Given the description of an element on the screen output the (x, y) to click on. 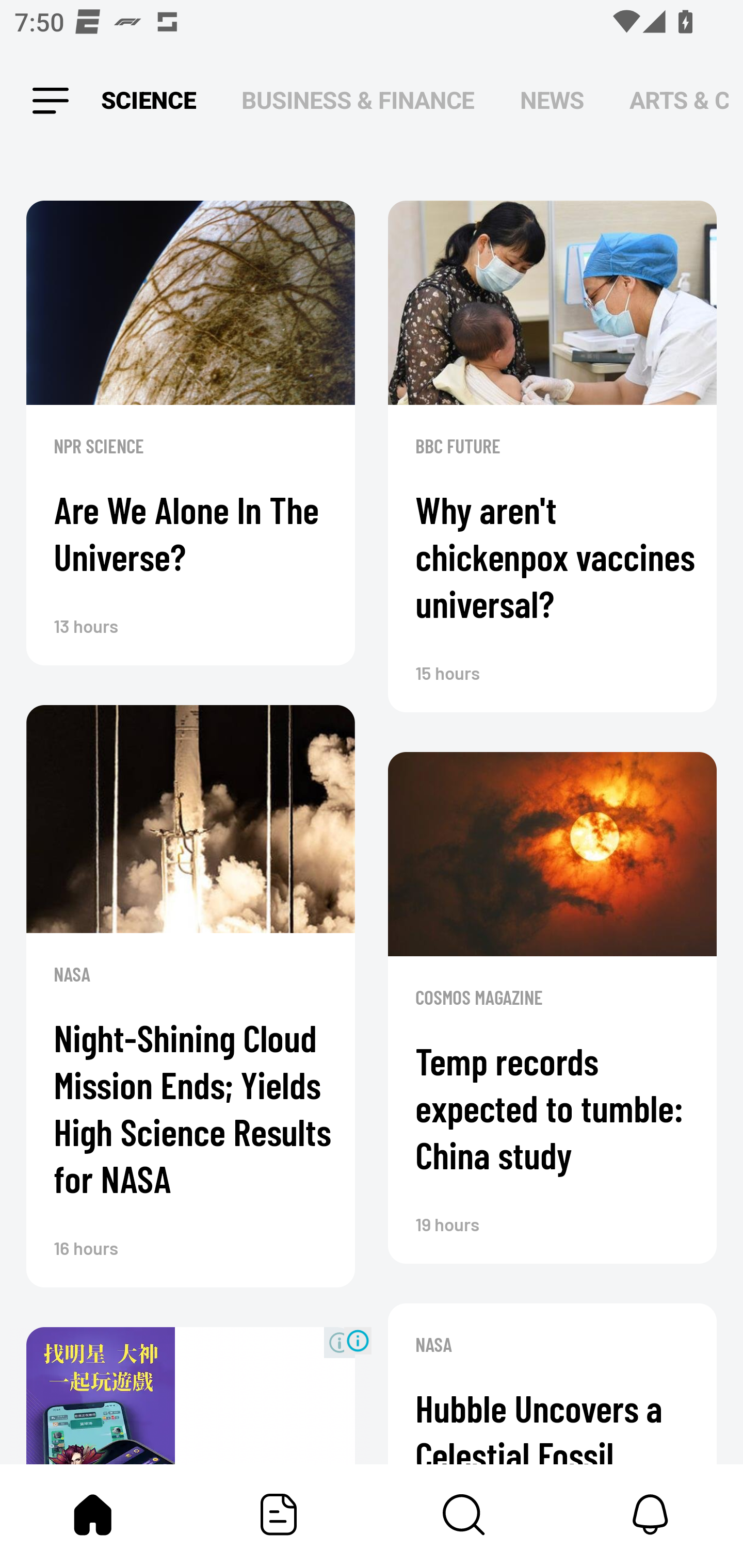
Leading Icon (50, 101)
BUSINESS & FINANCE (357, 100)
NEWS (551, 100)
ARTS & CULTURE (678, 100)
Ad Choices Icon (357, 1340)
Featured (278, 1514)
Content Store (464, 1514)
Notifications (650, 1514)
